Given the description of an element on the screen output the (x, y) to click on. 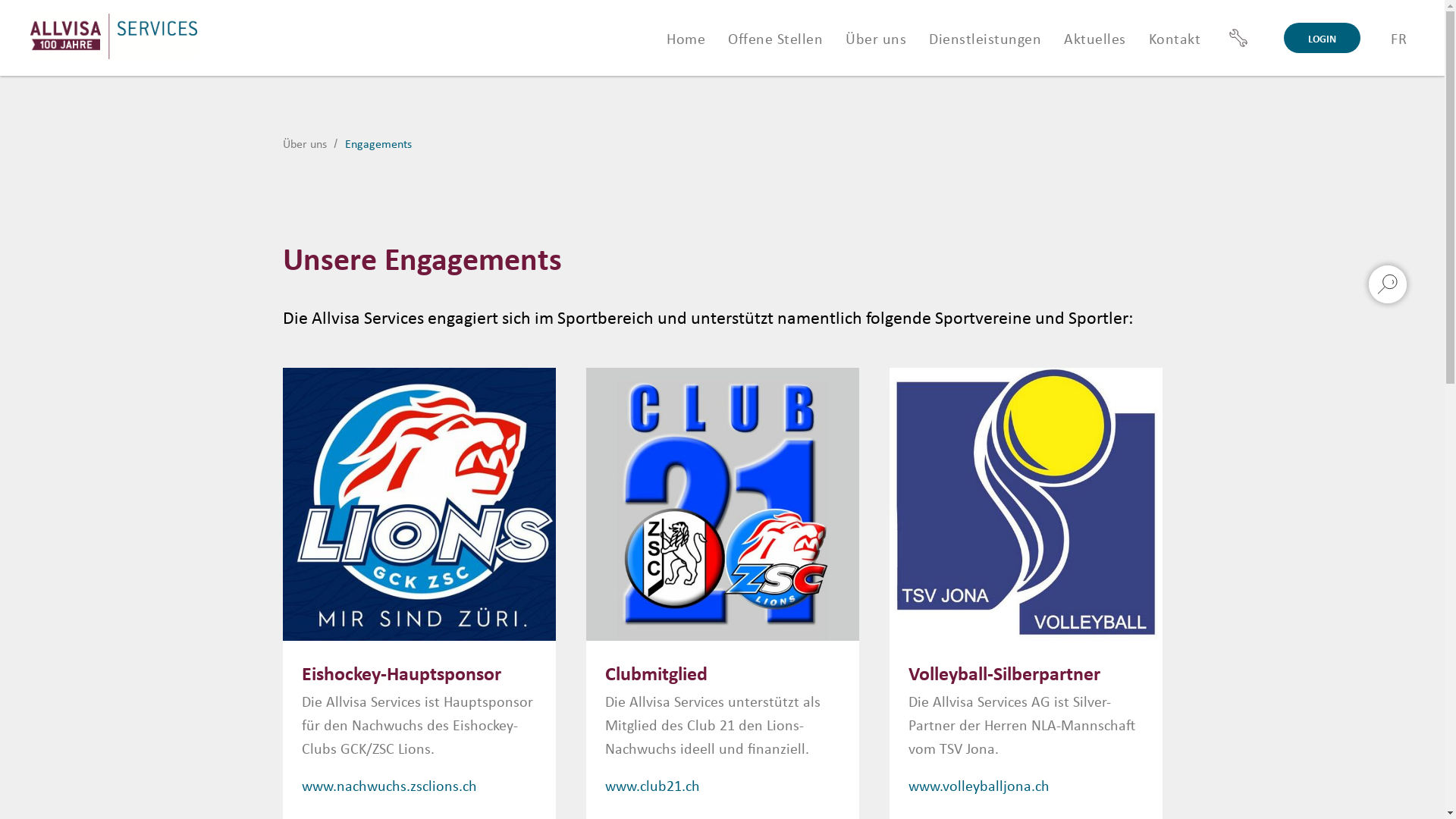
Aktuelles Element type: text (1094, 37)
Engagements Element type: text (378, 143)
Dienstleistungen Element type: text (984, 37)
Home Element type: text (685, 37)
Kontakt Element type: text (1174, 37)
Offene Stellen Element type: text (775, 37)
Support Element type: hover (1237, 37)
FR Element type: text (1398, 37)
LOGIN Element type: text (1321, 37)
www.volleyballjona.ch Element type: text (978, 785)
www.nachwuchs.zsclions.ch Element type: text (388, 785)
www.club21.ch Element type: text (652, 785)
